Given the description of an element on the screen output the (x, y) to click on. 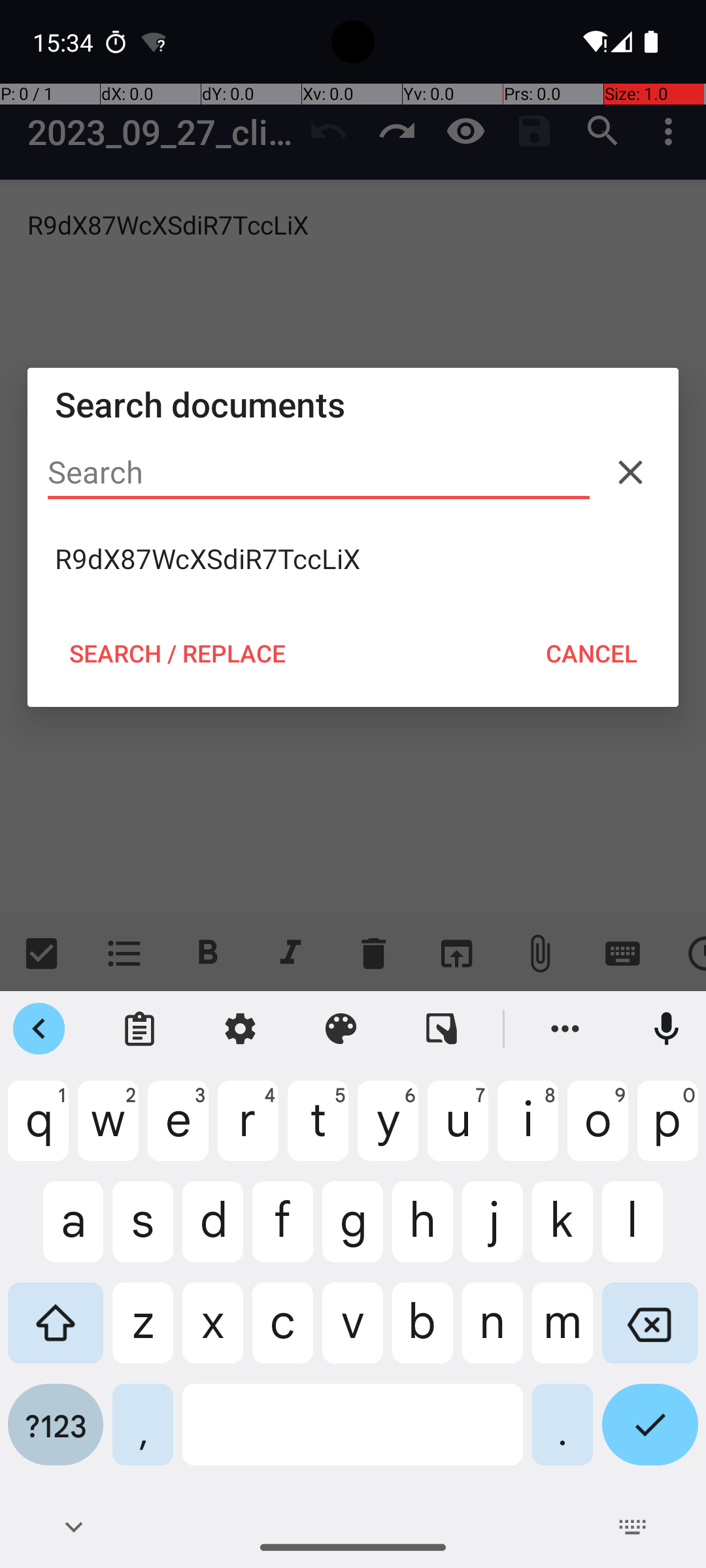
Search documents Element type: android.widget.TextView (352, 403)
R9dX87WcXSdiR7TccLiX Element type: android.widget.TextView (352, 558)
SEARCH / REPLACE Element type: android.widget.Button (176, 652)
Theme settings Element type: android.widget.FrameLayout (340, 1028)
One handed mode Element type: android.widget.FrameLayout (441, 1028)
Done Element type: android.widget.FrameLayout (649, 1434)
Android System notification: AndroidWifi has limited connectivity Element type: android.widget.ImageView (153, 41)
Wifi signal full.,No internet Element type: android.widget.FrameLayout (593, 41)
